Given the description of an element on the screen output the (x, y) to click on. 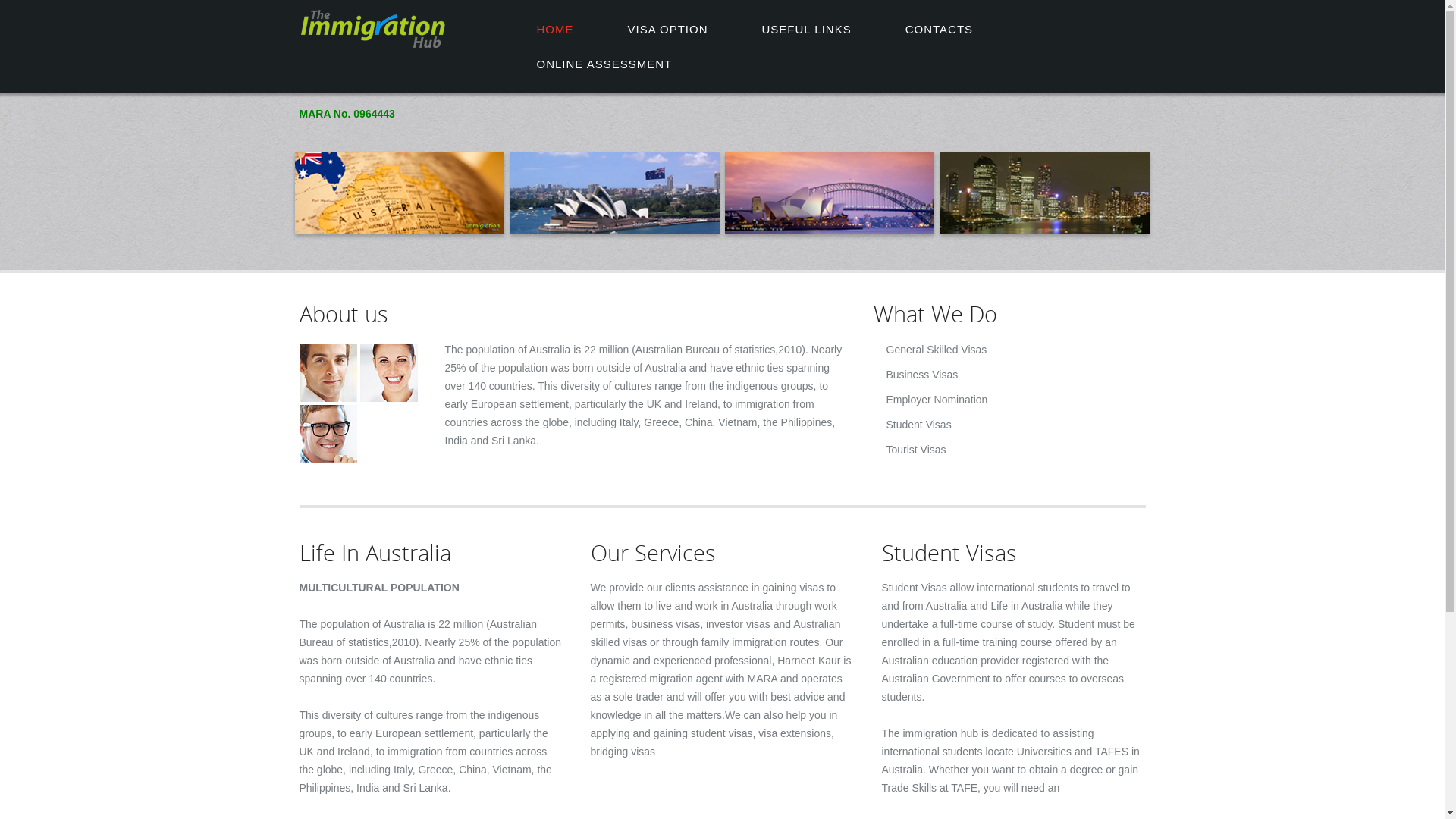
0 Element type: text (614, 229)
Business Visas Element type: text (921, 374)
Student Visas Element type: text (917, 424)
0 Element type: text (399, 229)
HOME Element type: text (554, 40)
0 Element type: text (1044, 229)
General Skilled Visas Element type: text (935, 349)
Employer Nomination Element type: text (936, 399)
USEFUL LINKS Element type: text (806, 40)
ONLINE ASSESSMENT Element type: text (603, 75)
0 Element type: text (829, 229)
VISA OPTION Element type: text (667, 40)
Tourist Visas Element type: text (915, 449)
CONTACTS Element type: text (938, 40)
